Given the description of an element on the screen output the (x, y) to click on. 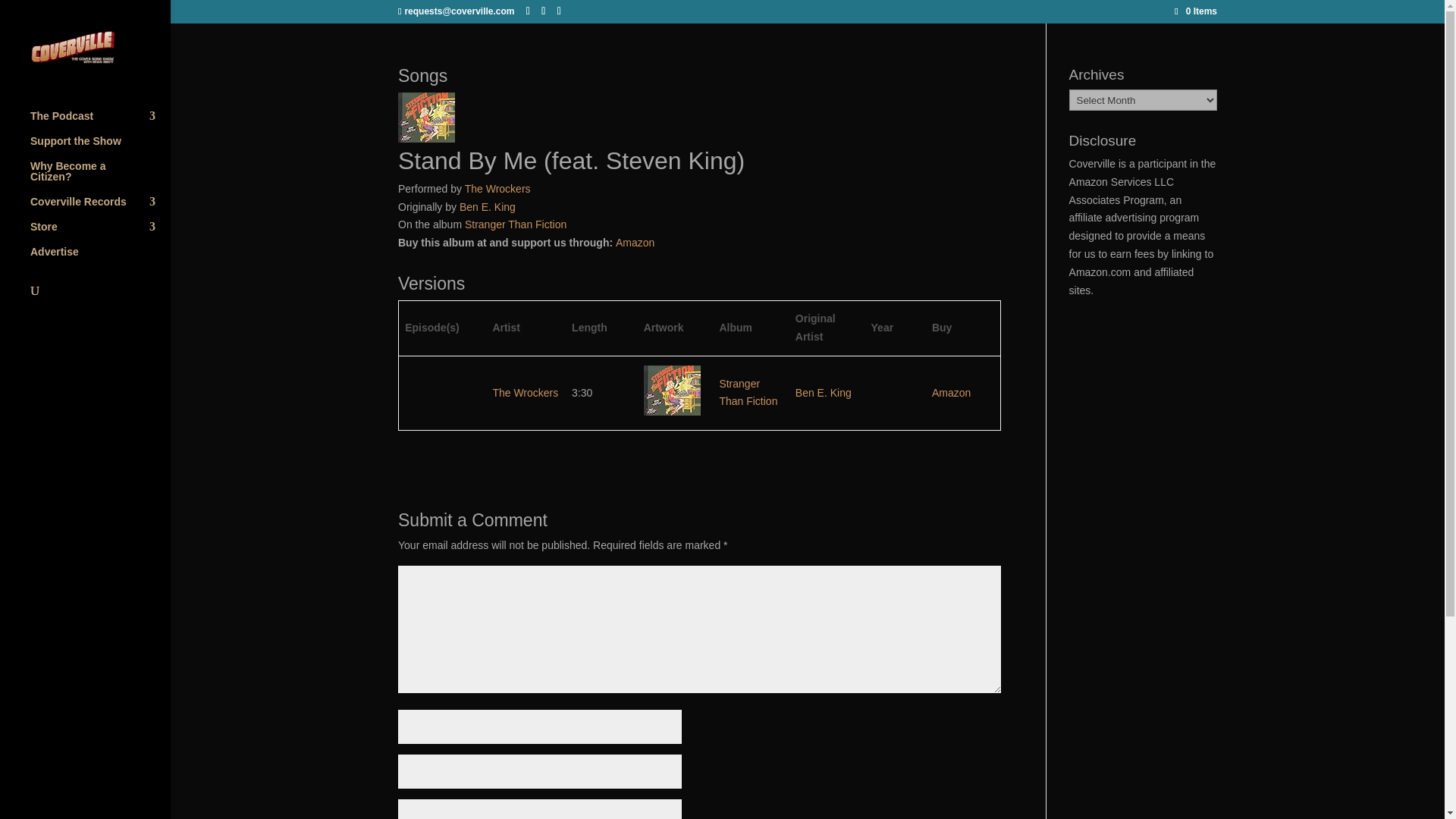
Store (100, 233)
0 Items (1195, 10)
Advertise (100, 258)
Why Become a Citizen? (100, 178)
The Podcast (100, 122)
Support the Show (100, 147)
Coverville Records (100, 208)
